Given the description of an element on the screen output the (x, y) to click on. 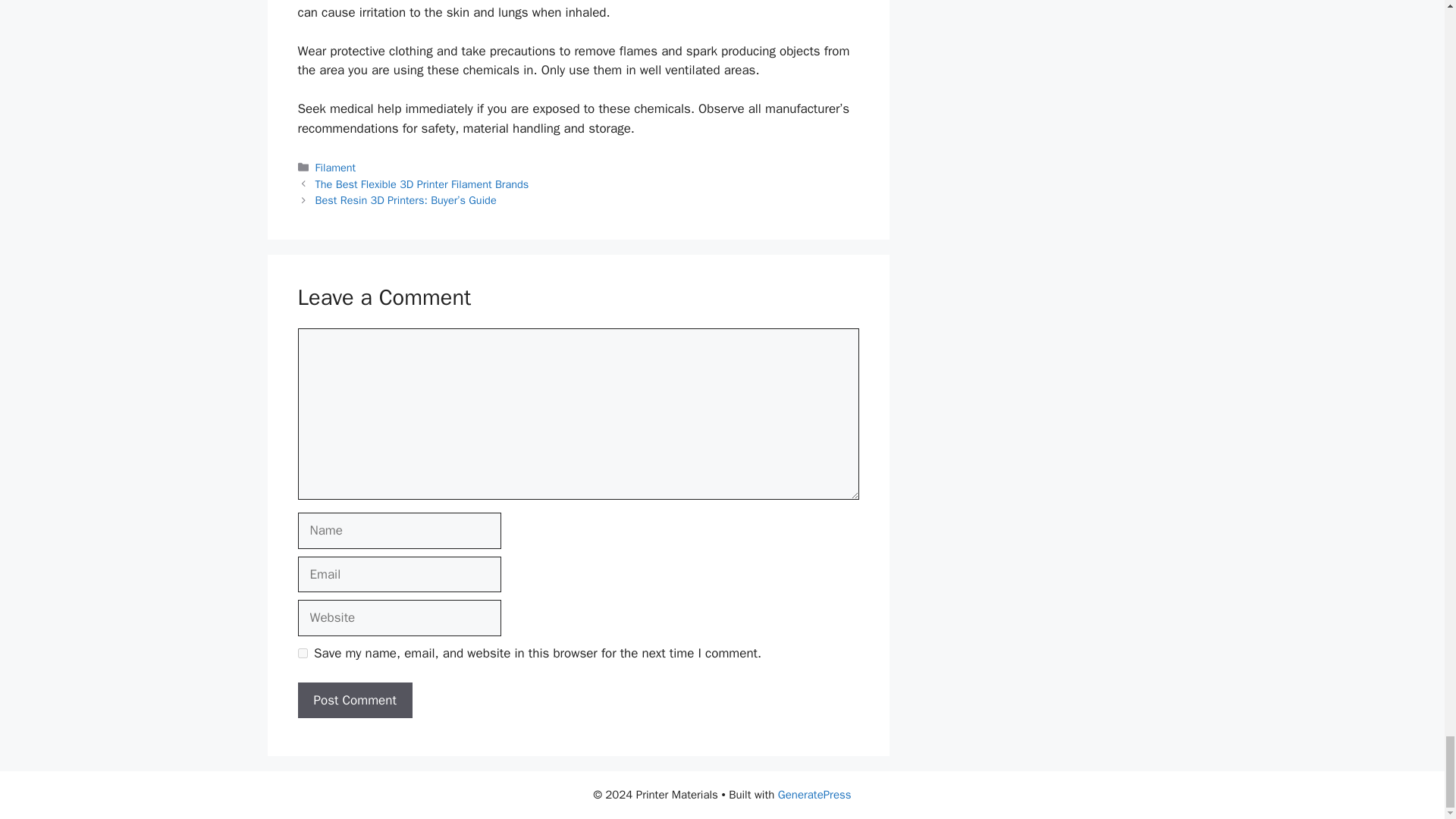
yes (302, 653)
Post Comment (354, 700)
